Given the description of an element on the screen output the (x, y) to click on. 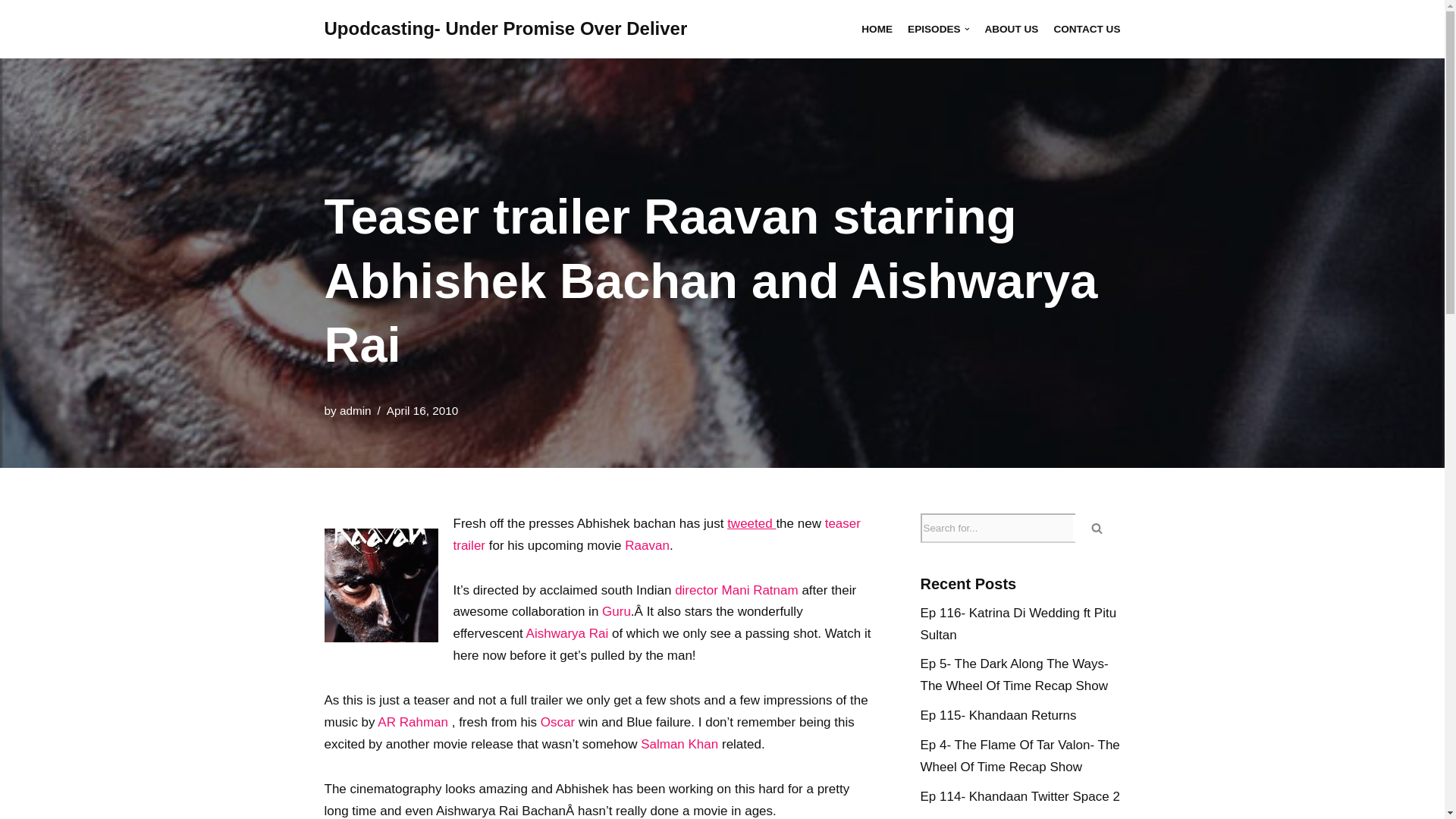
Posts by admin (355, 410)
Raavan (646, 545)
Raavan (381, 585)
Upodcasting- Under Promise Over Deliver (505, 29)
Guru (616, 611)
teaser trailer (656, 534)
CONTACT US (1085, 28)
Oscar (557, 721)
Aishwarya Rai (566, 633)
tweeted (751, 523)
